Given the description of an element on the screen output the (x, y) to click on. 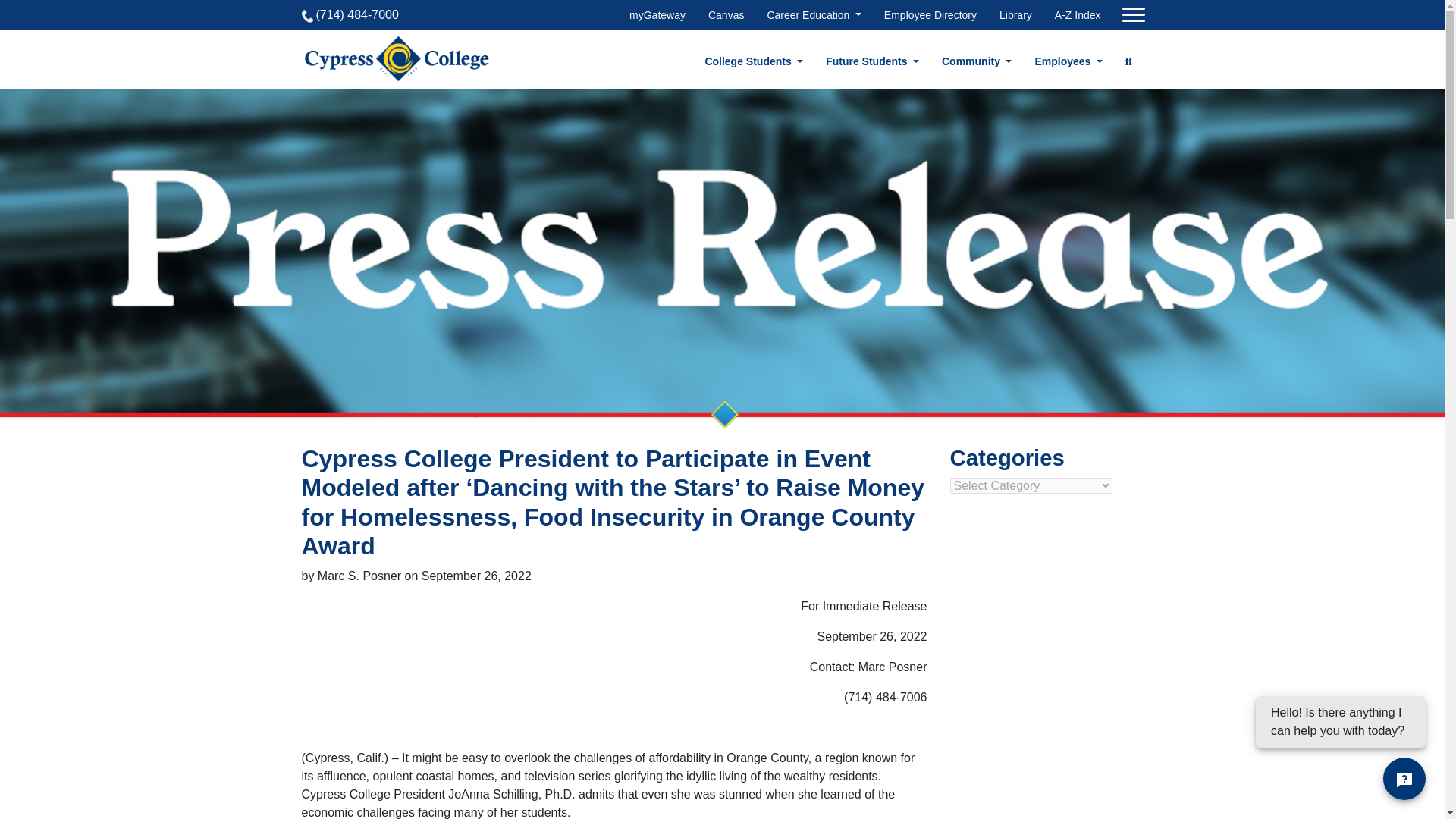
myGateway (657, 15)
Employee Directory (930, 15)
Career Education (812, 15)
Library (1015, 15)
A-Z Index (1077, 15)
Canvas (725, 15)
